Given the description of an element on the screen output the (x, y) to click on. 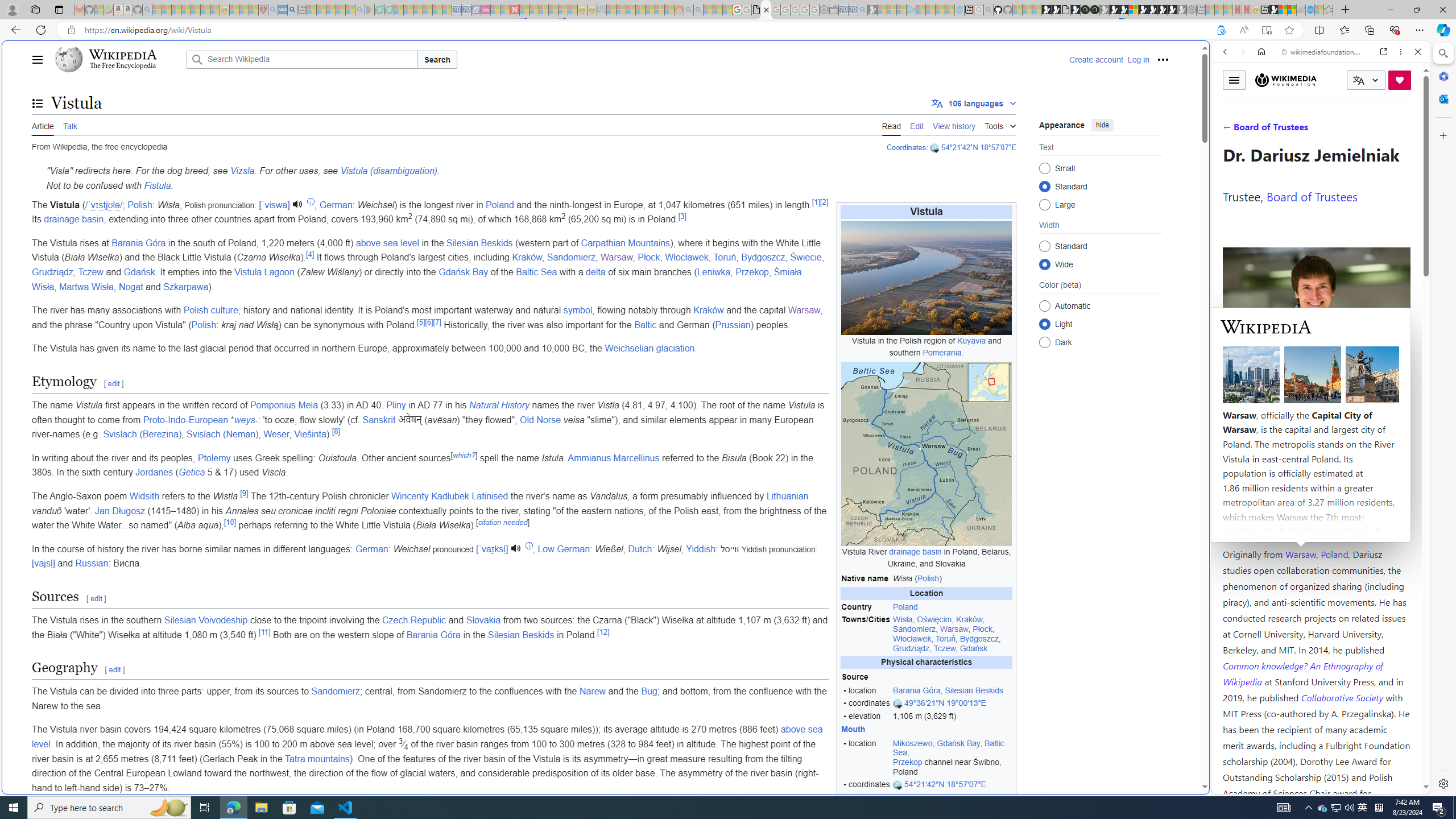
Microsoft Start - Sleeping (939, 9)
Settings - Sleeping (823, 9)
Microsoft Start Gaming - Sleeping (872, 9)
Services - Maintenance | Sky Blue Bikes - Sky Blue Bikes (1309, 9)
Nogat (129, 286)
Dutch (639, 548)
WEB   (1230, 130)
Dark (1044, 341)
Board of Trustees (1311, 195)
